Given the description of an element on the screen output the (x, y) to click on. 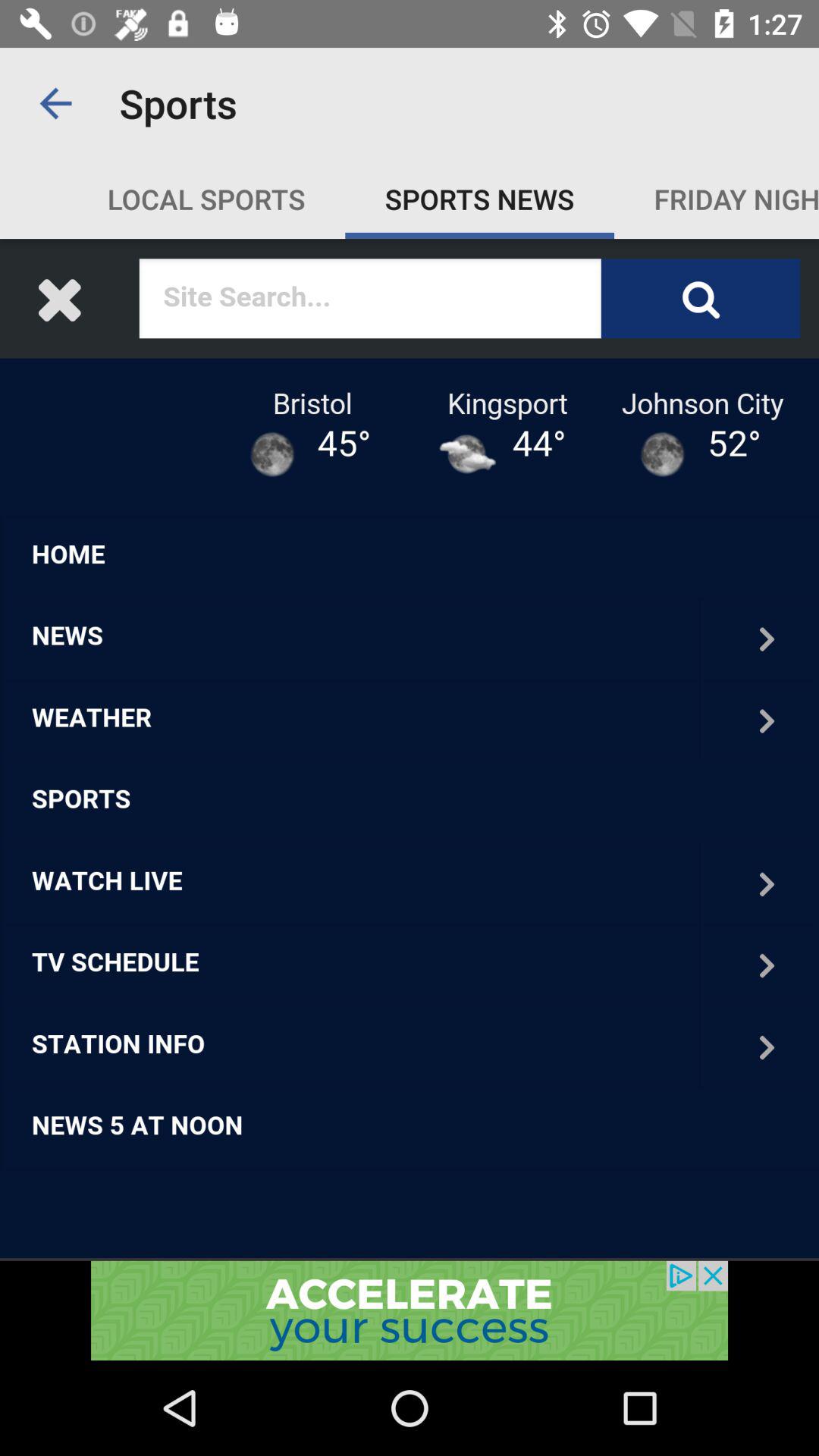
main menu (409, 749)
